Given the description of an element on the screen output the (x, y) to click on. 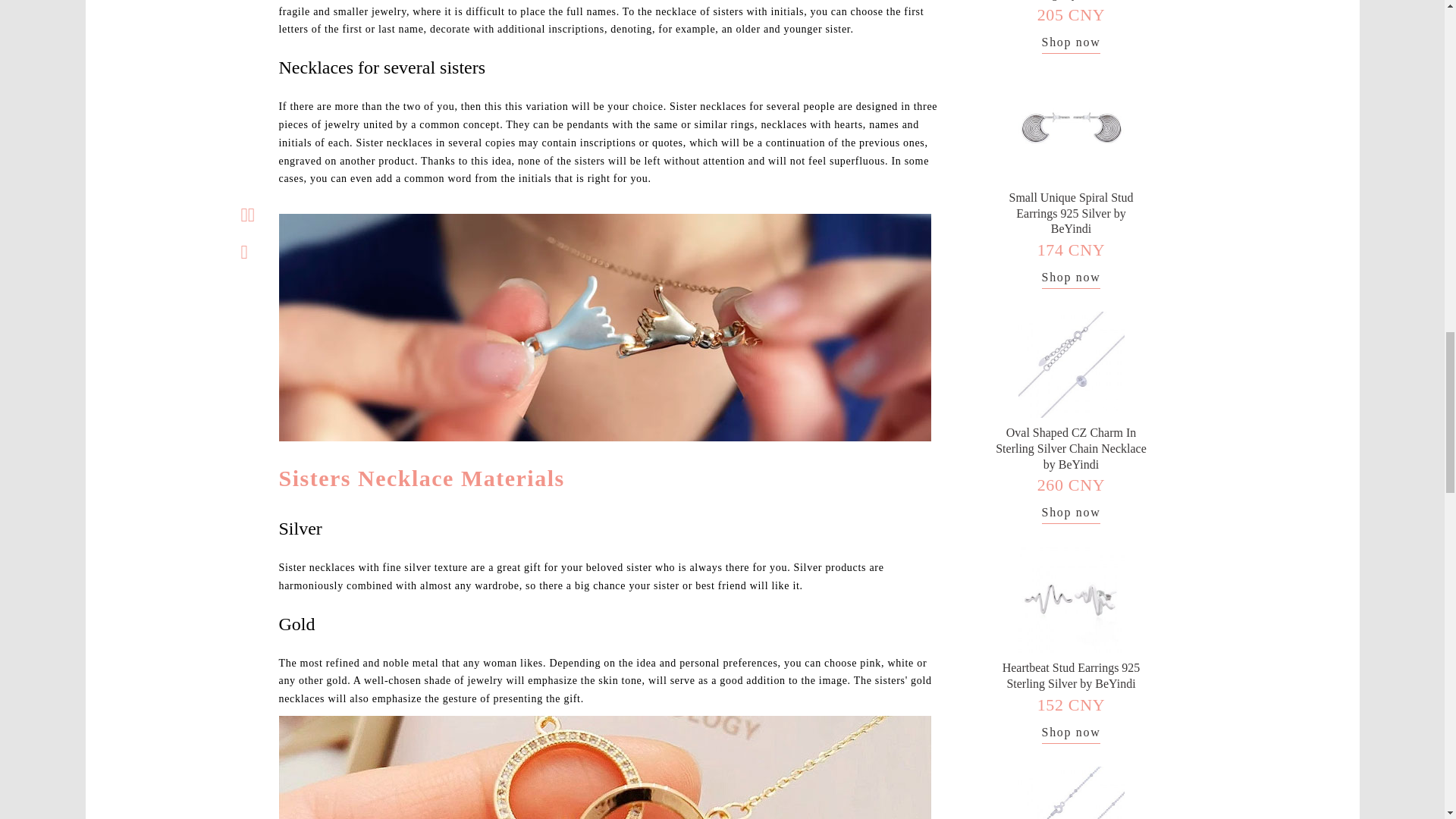
Heartbeat Stud Earrings 925 Sterling Silver by BeYindi (1071, 675)
Shop now (1071, 44)
Shop now (1071, 279)
Shop now (1071, 514)
Shop now (1071, 733)
Small Unique Spiral Stud Earrings 925 Silver by BeYindi (1070, 212)
